Given the description of an element on the screen output the (x, y) to click on. 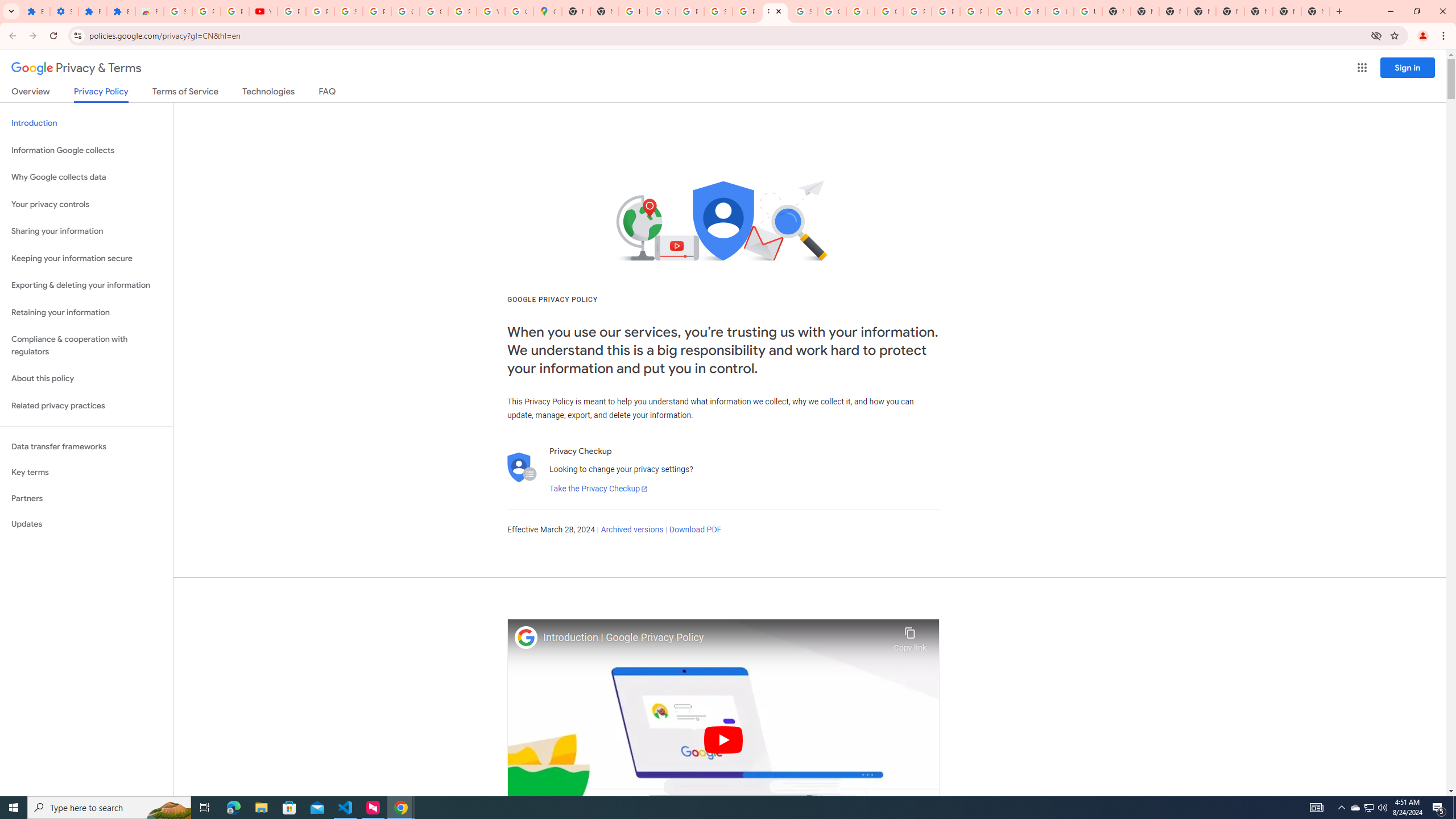
Reviews: Helix Fruit Jump Arcade Game (148, 11)
